Given the description of an element on the screen output the (x, y) to click on. 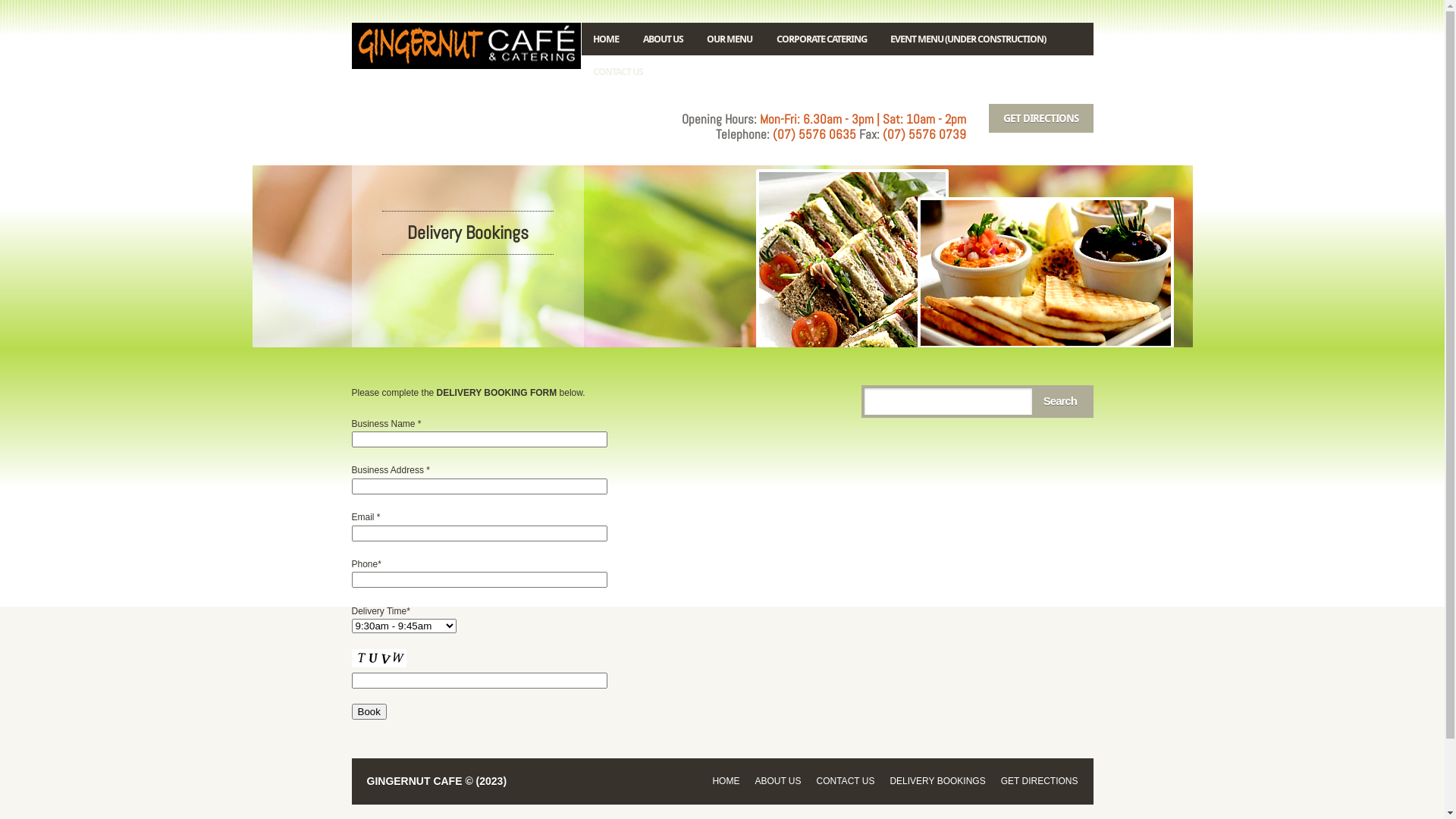
ABOUT US Element type: text (777, 780)
GET DIRECTIONS Element type: text (1039, 780)
Search Element type: text (1060, 401)
OUR MENU Element type: text (729, 38)
CORPORATE CATERING Element type: text (821, 38)
CONTACT US Element type: text (845, 780)
EVENT MENU (UNDER CONSTRUCTION) Element type: text (967, 38)
ABOUT US Element type: text (662, 38)
HOME Element type: text (725, 780)
HOME Element type: text (605, 38)
CONTACT US Element type: text (617, 71)
GET DIRECTIONS Element type: text (1040, 118)
Book Element type: text (368, 711)
DELIVERY BOOKINGS Element type: text (937, 780)
